Given the description of an element on the screen output the (x, y) to click on. 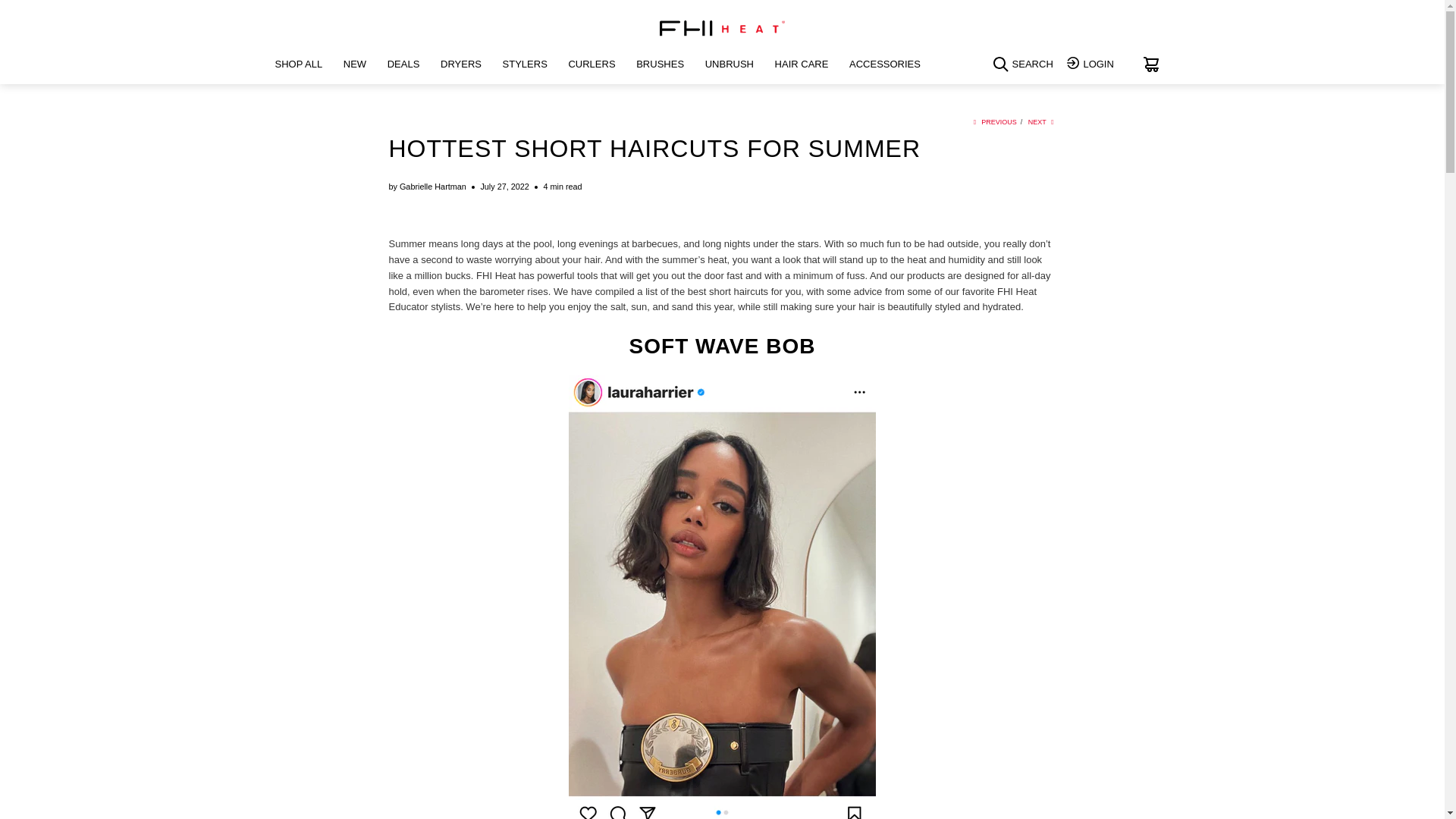
UNBRUSH (729, 64)
CURLERS (590, 64)
STYLERS (524, 64)
DRYERS (461, 64)
SHOP ALL (298, 64)
NEW (354, 64)
BRUSHES (660, 64)
My Account  (1091, 65)
DEALS (403, 64)
Search (1024, 66)
